Given the description of an element on the screen output the (x, y) to click on. 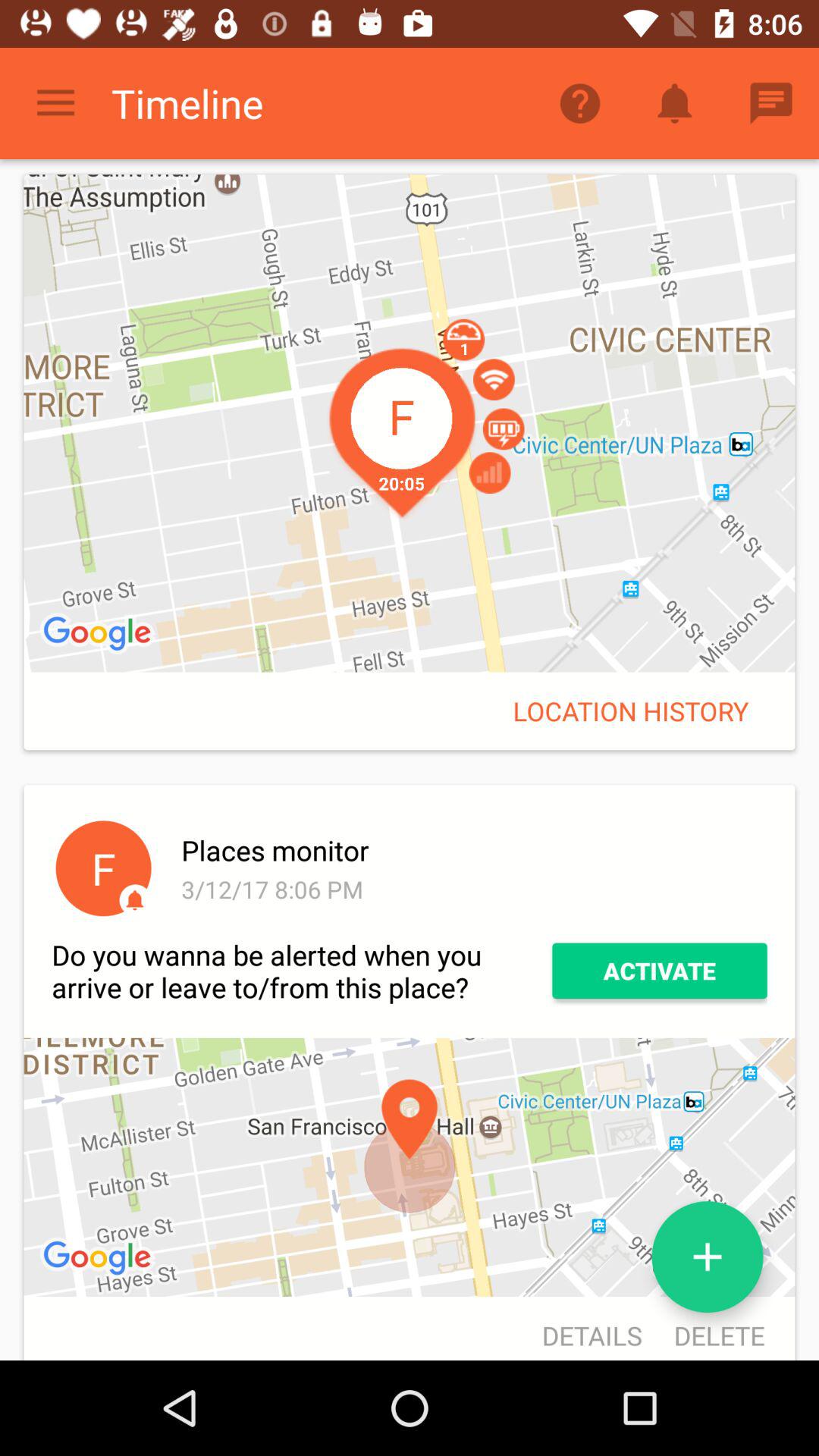
turn off the delete item (711, 1330)
